Given the description of an element on the screen output the (x, y) to click on. 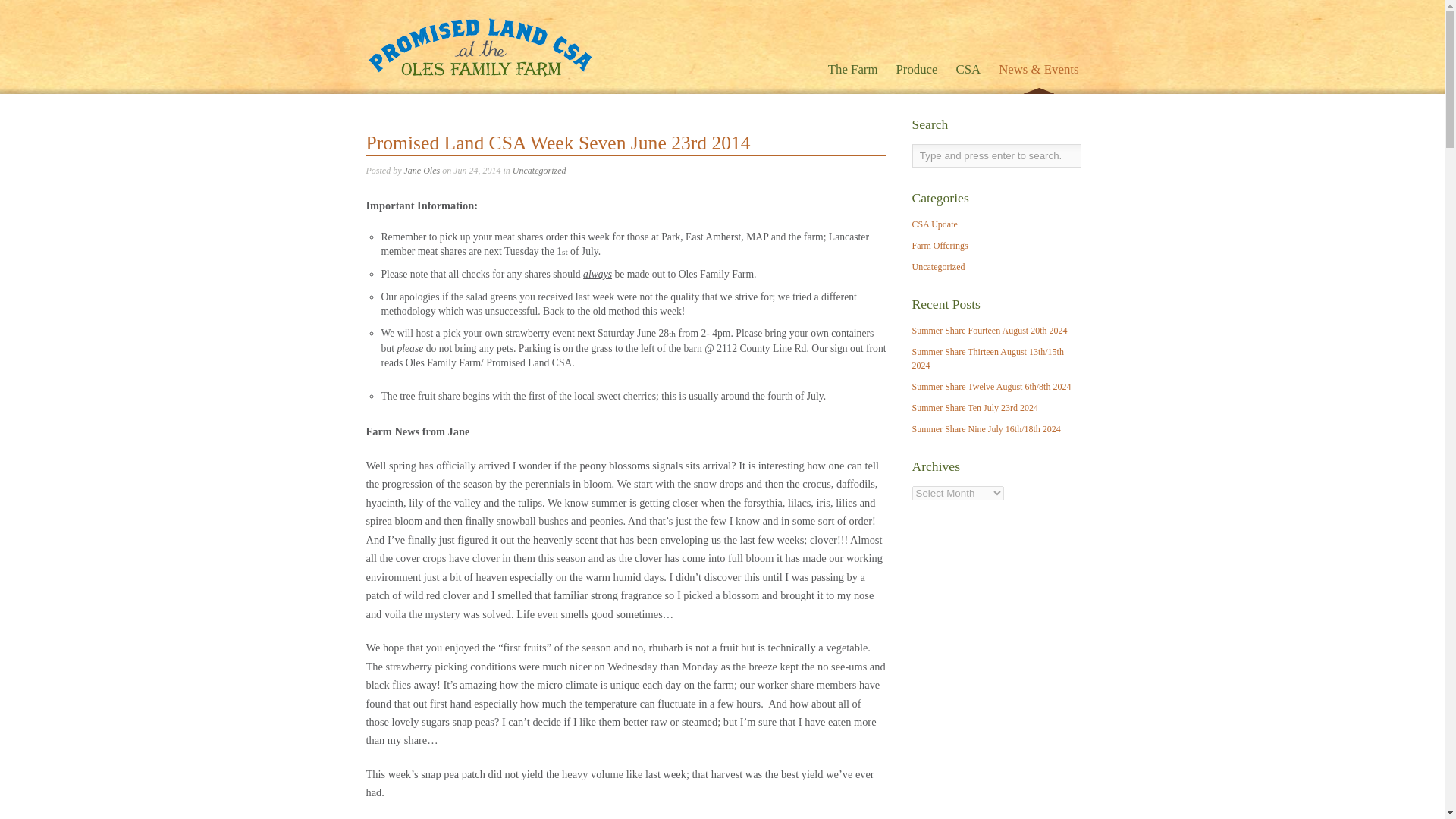
Uncategorized (937, 266)
Summer Share Ten July 23rd 2024 (974, 407)
Type and press enter to search. (995, 155)
Uncategorized (539, 170)
Posts by Jane Oles (421, 170)
Promised Land CSA Week Seven June 23rd 2014 (557, 142)
CSA Update (933, 224)
Farm Offerings (939, 245)
Summer Share Fourteen August 20th 2024 (989, 330)
Jane Oles (421, 170)
